Given the description of an element on the screen output the (x, y) to click on. 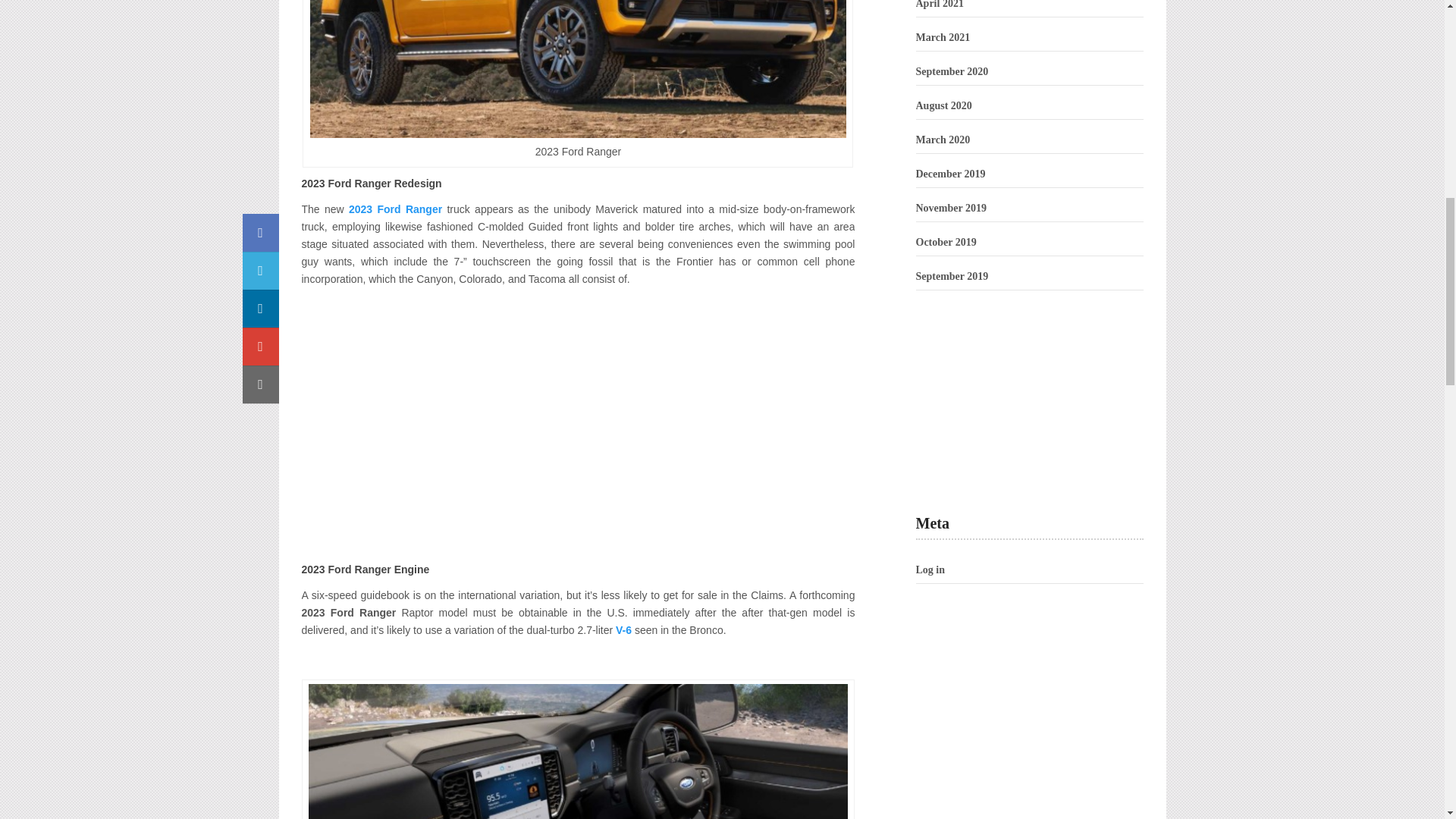
2023 Ford Ranger (395, 209)
YouTube video player (577, 422)
V-6 (623, 630)
Advertisement (1028, 388)
